Given the description of an element on the screen output the (x, y) to click on. 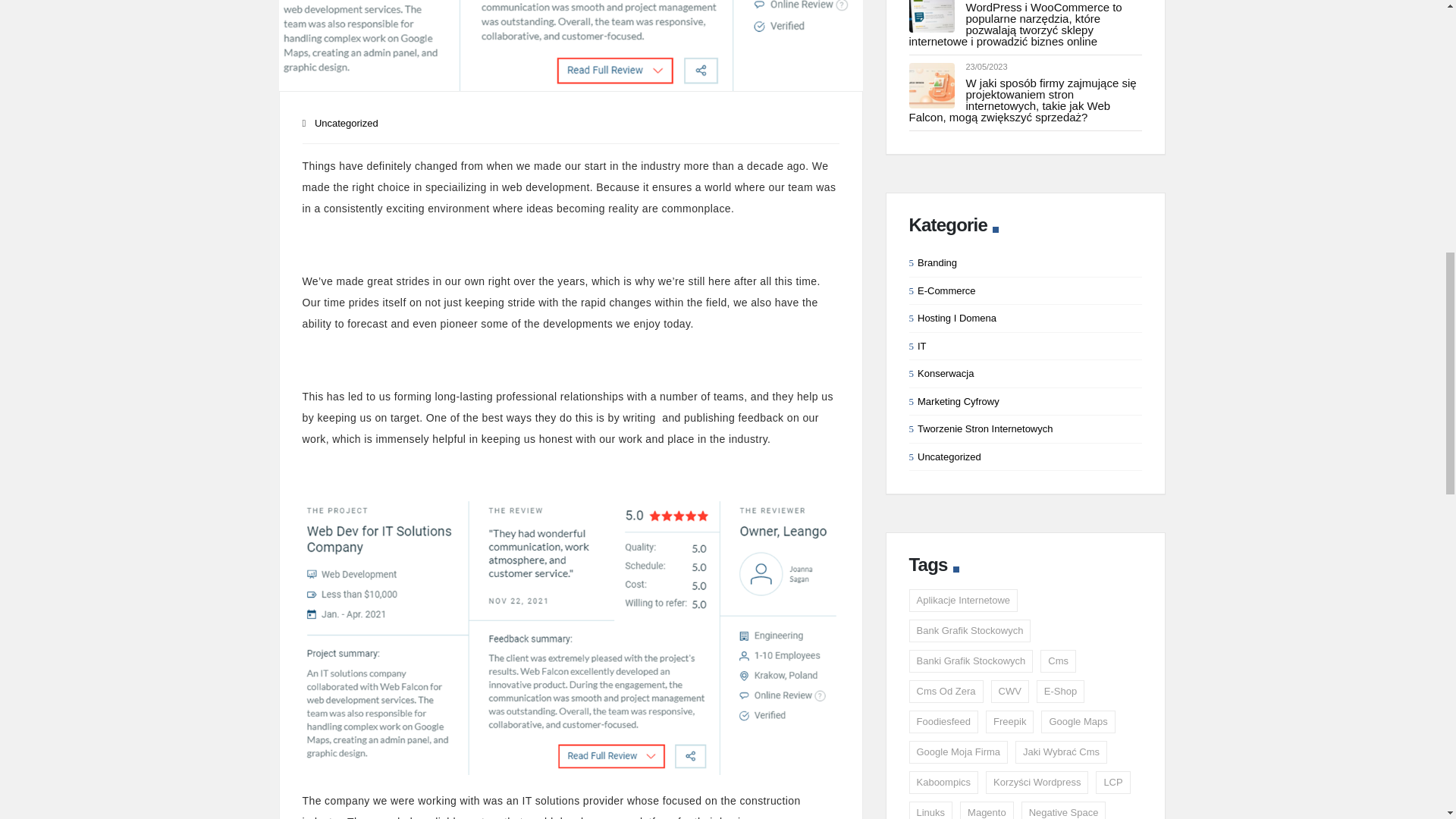
Aplikacje Internetowe (962, 599)
Tworzenie Stron Internetowych (984, 428)
Cms Od Zera (945, 691)
Uncategorized (346, 122)
Bank Grafik Stockowych (969, 630)
Branding (936, 262)
Cms (1058, 661)
Uncategorized (949, 455)
View all posts in Uncategorized (346, 122)
Banki Grafik Stockowych (970, 661)
Marketing Cyfrowy (957, 401)
Konserwacja (945, 373)
E-Commerce (946, 290)
Hosting I Domena (956, 317)
